Given the description of an element on the screen output the (x, y) to click on. 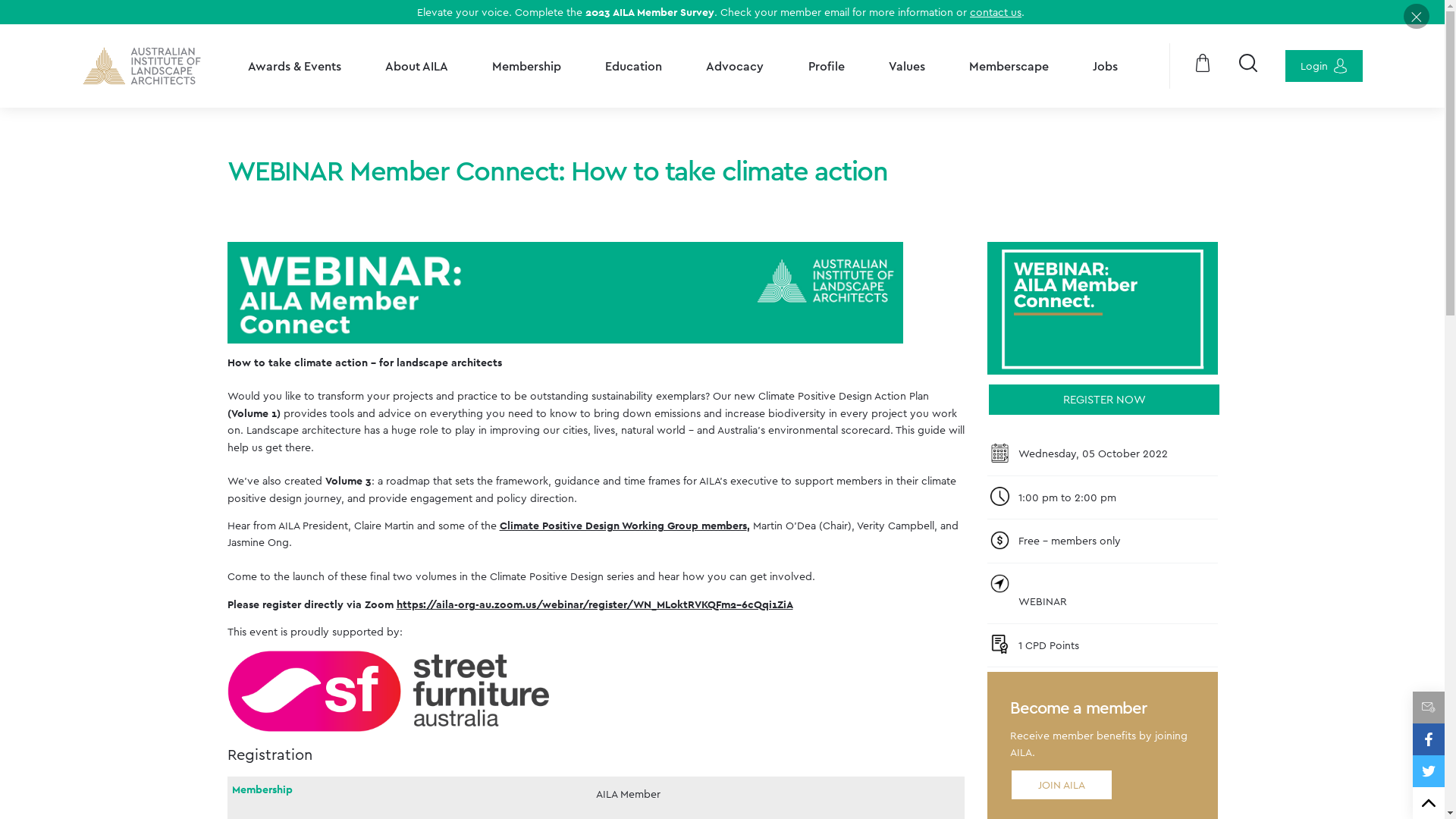
Education Element type: text (633, 65)
Memberscape Element type: text (1008, 65)
Awards & Events Element type: text (294, 65)
JOIN AILA Element type: text (1061, 784)
contact us Element type: text (995, 11)
Profile Element type: text (826, 65)
Jobs Element type: text (1104, 65)
Search Element type: text (1247, 65)
Home Element type: text (142, 65)
Advocacy Element type: text (734, 65)
About AILA Element type: text (416, 65)
REGISTER NOW Element type: text (1103, 399)
Login Element type: text (1322, 65)
Climate Positive Design Working Group members Element type: text (622, 524)
Membership Element type: text (526, 65)
Values Element type: text (906, 65)
Cart Element type: text (1202, 65)
